Given the description of an element on the screen output the (x, y) to click on. 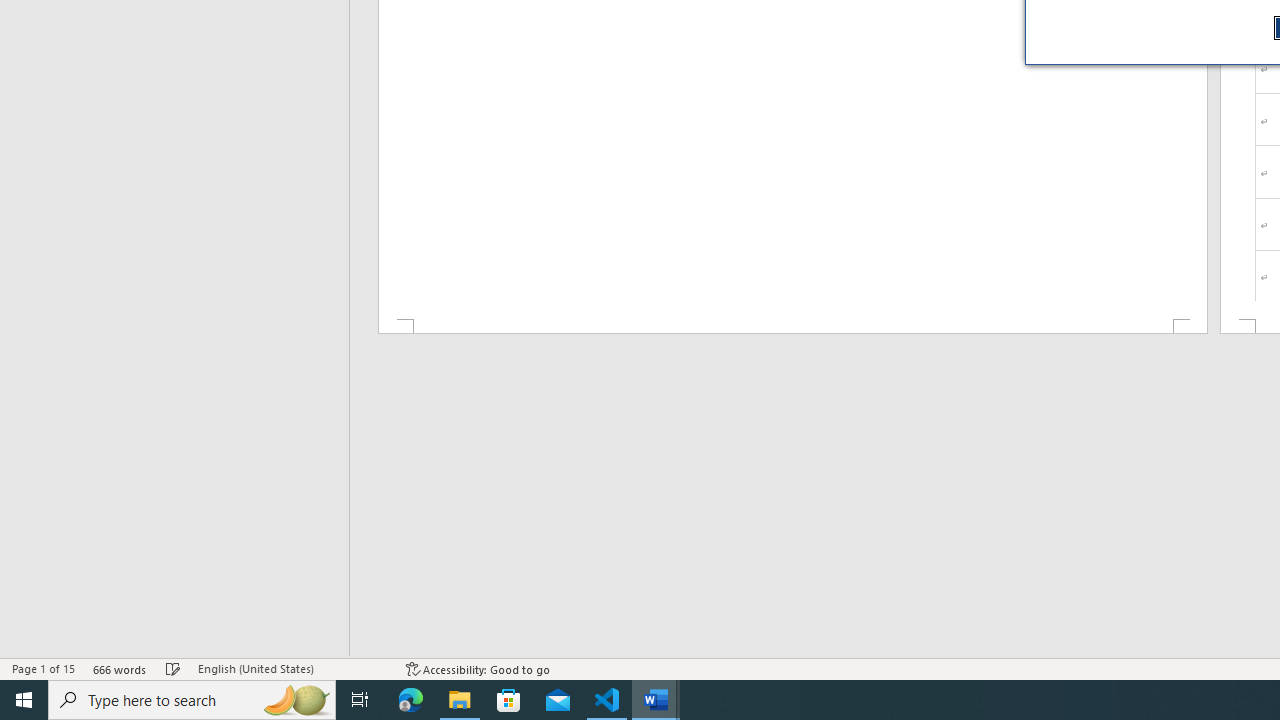
Language English (United States) (292, 668)
